Given the description of an element on the screen output the (x, y) to click on. 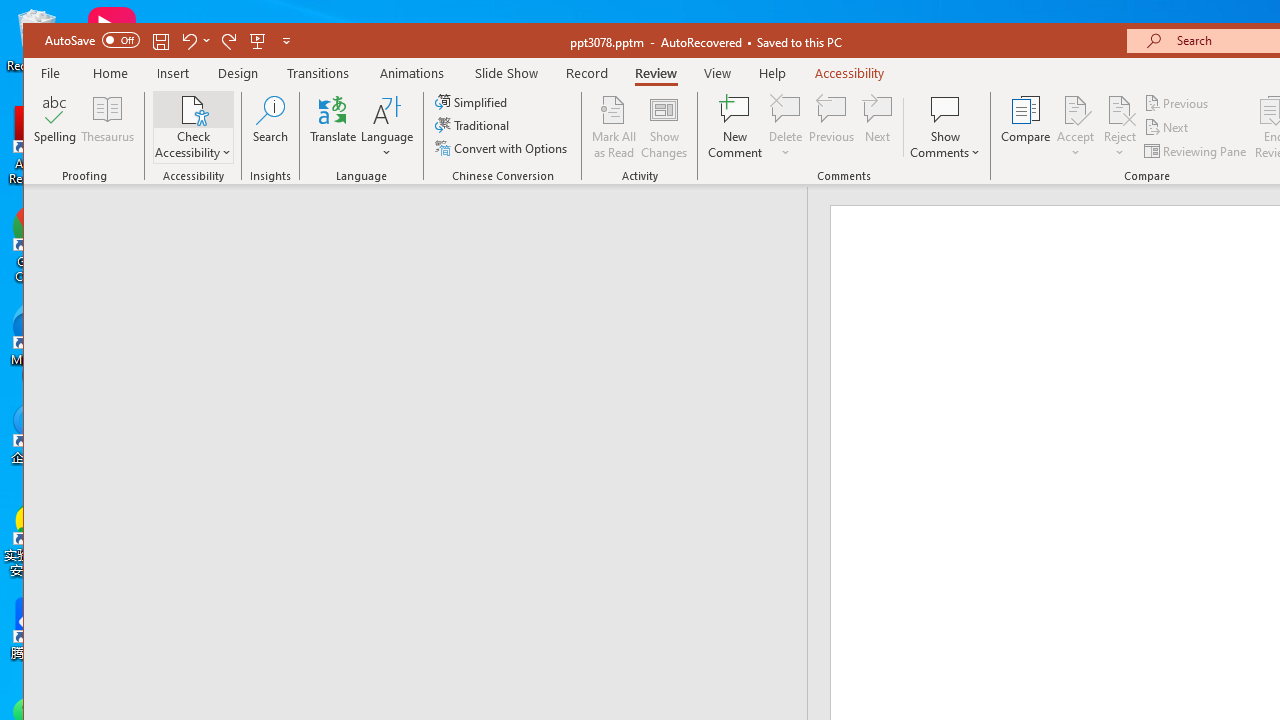
Mark All as Read (614, 127)
Accept (1075, 127)
Convert with Options... (502, 147)
Simplified (473, 101)
Show Changes (663, 127)
Compare (1025, 127)
Traditional (473, 124)
